Given the description of an element on the screen output the (x, y) to click on. 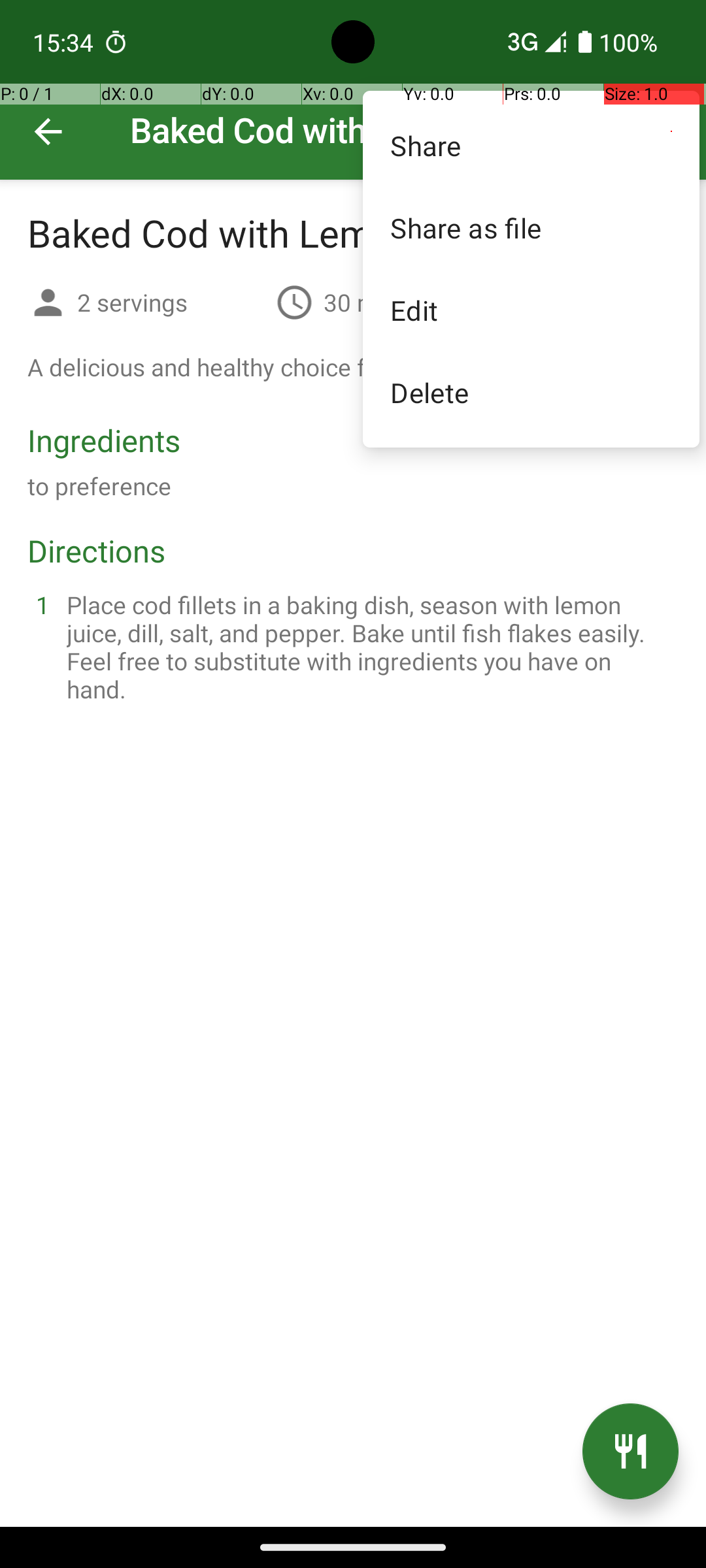
Share as file Element type: android.widget.TextView (531, 227)
